Given the description of an element on the screen output the (x, y) to click on. 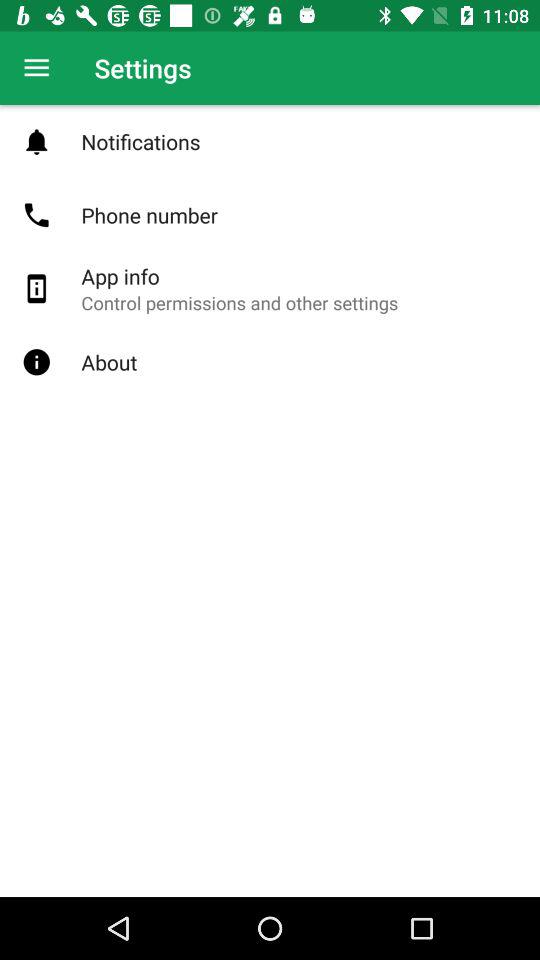
turn off the app to the left of settings item (36, 68)
